Given the description of an element on the screen output the (x, y) to click on. 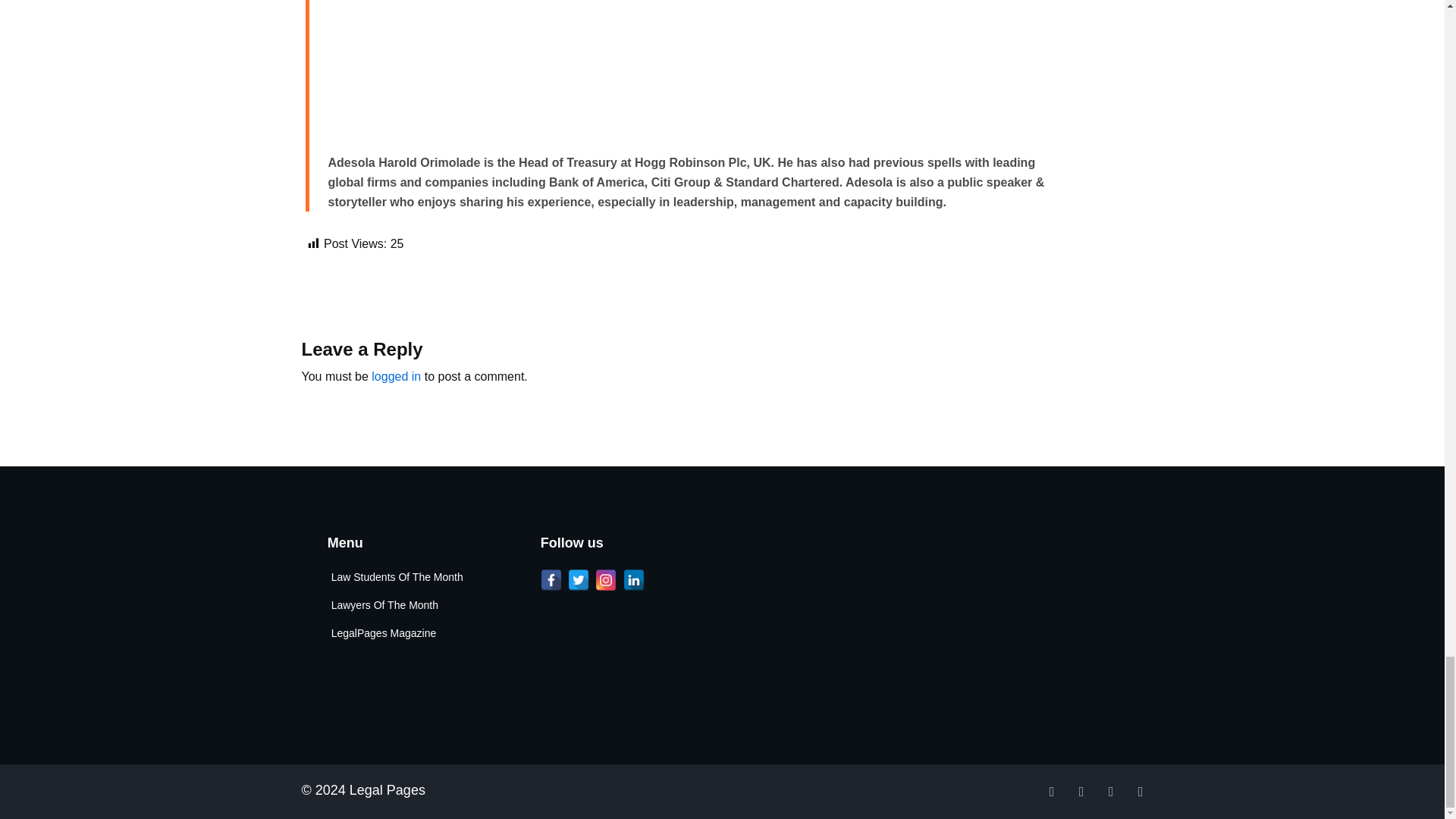
Law Students Of The Month (411, 577)
Instagram (605, 579)
Lawyers Of The Month (411, 605)
logged in (395, 376)
Twitter (578, 579)
LegalPages Magazine (411, 633)
Facebook (551, 579)
LinkedIn (634, 579)
